Given the description of an element on the screen output the (x, y) to click on. 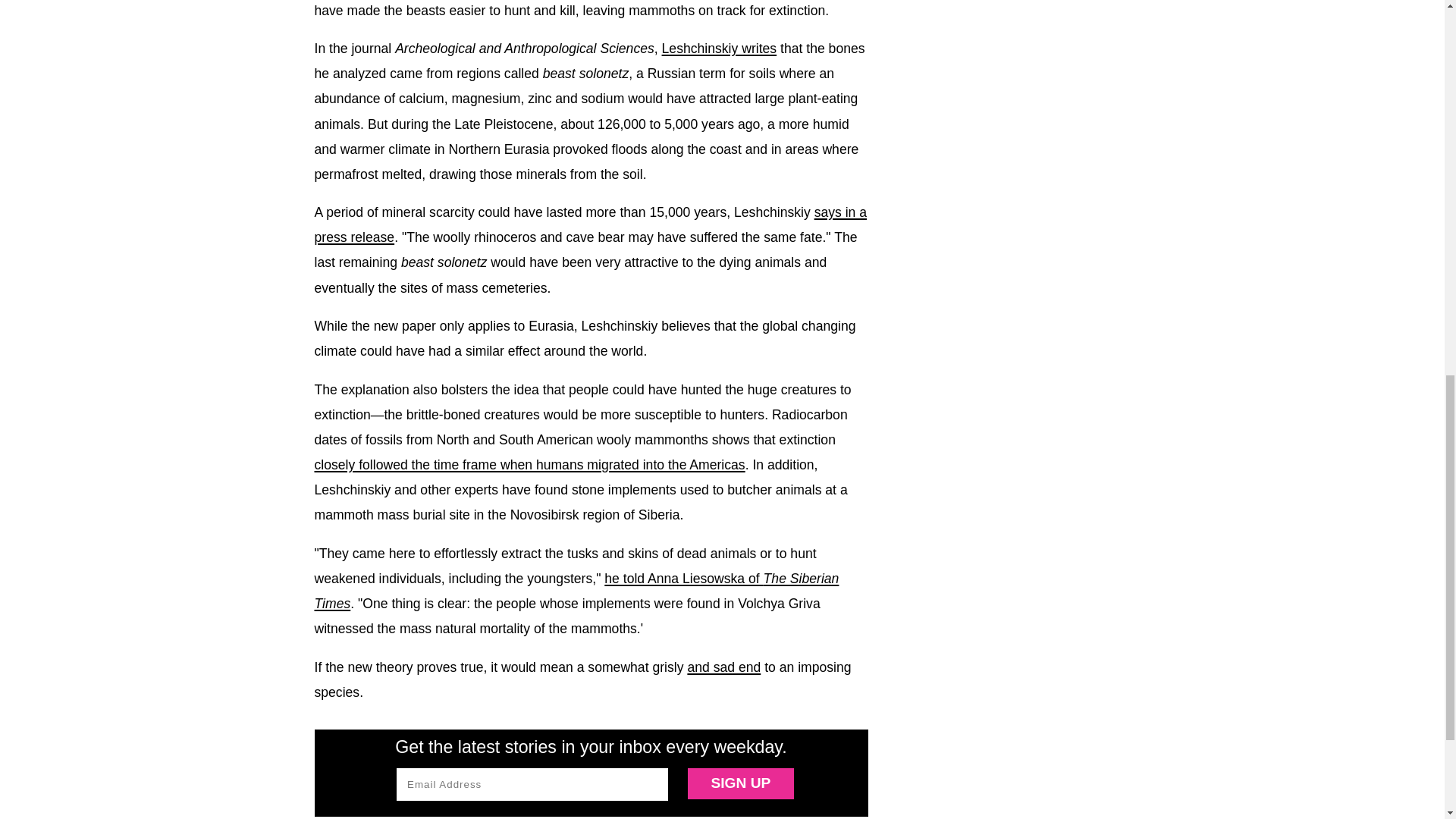
Sign Up (740, 783)
